Given the description of an element on the screen output the (x, y) to click on. 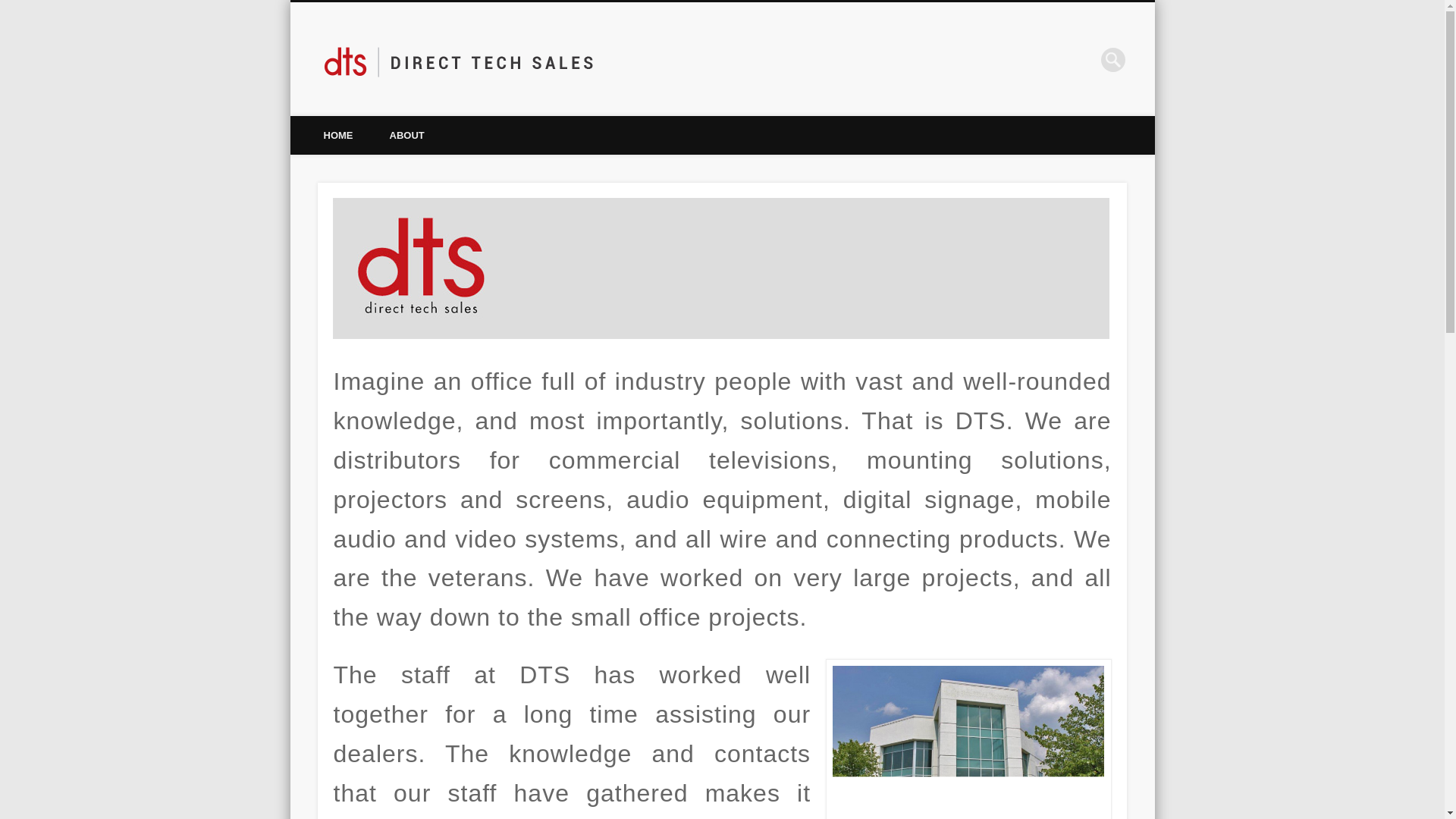
Direct Tech Sales (704, 59)
ABOUT (406, 135)
Search (11, 7)
HOME (337, 135)
